Given the description of an element on the screen output the (x, y) to click on. 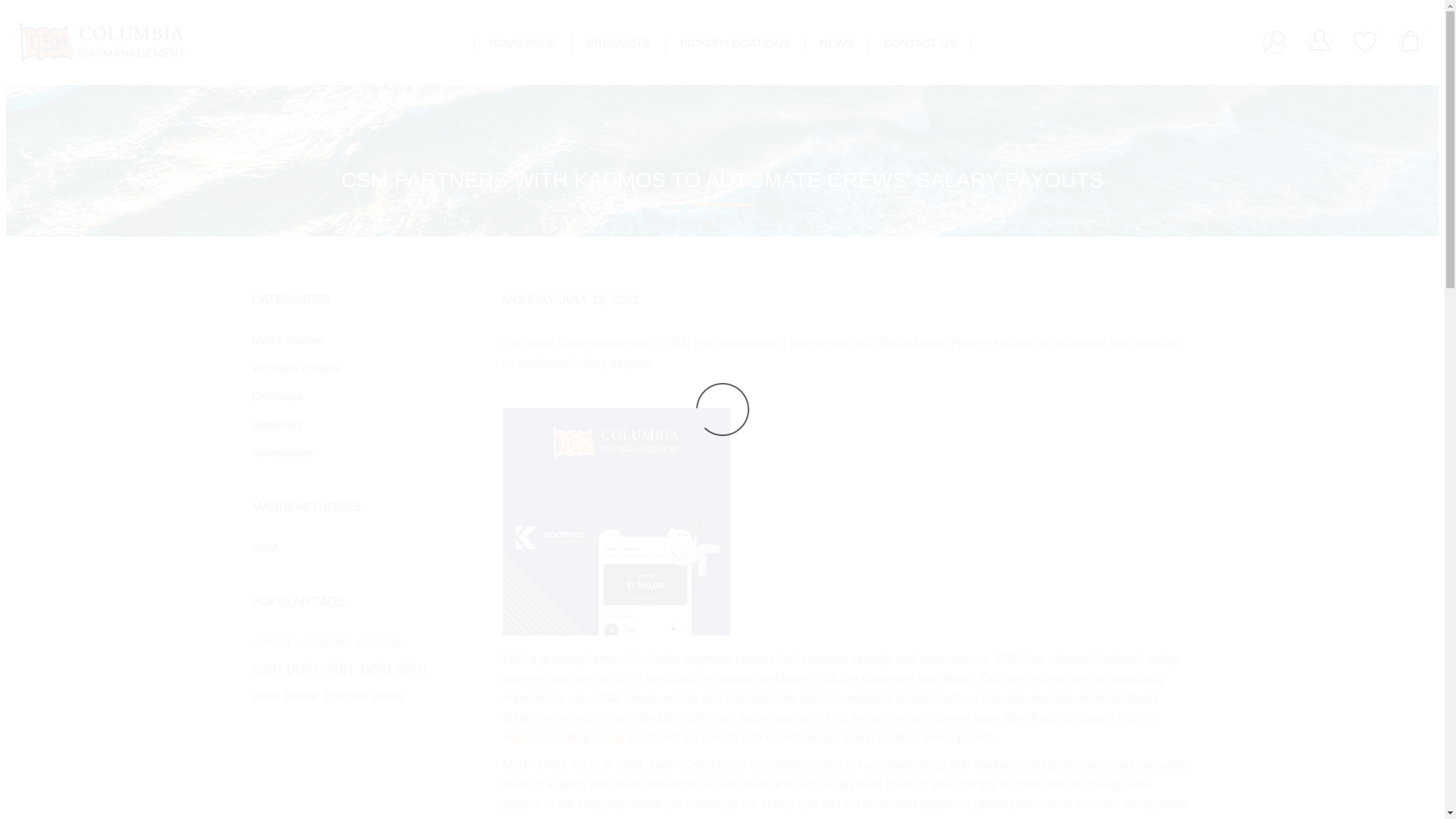
Home Page (523, 42)
PICKUP LOCATIONS (735, 42)
HOME PAGE (523, 42)
CSM E-SHOP (102, 42)
